Given the description of an element on the screen output the (x, y) to click on. 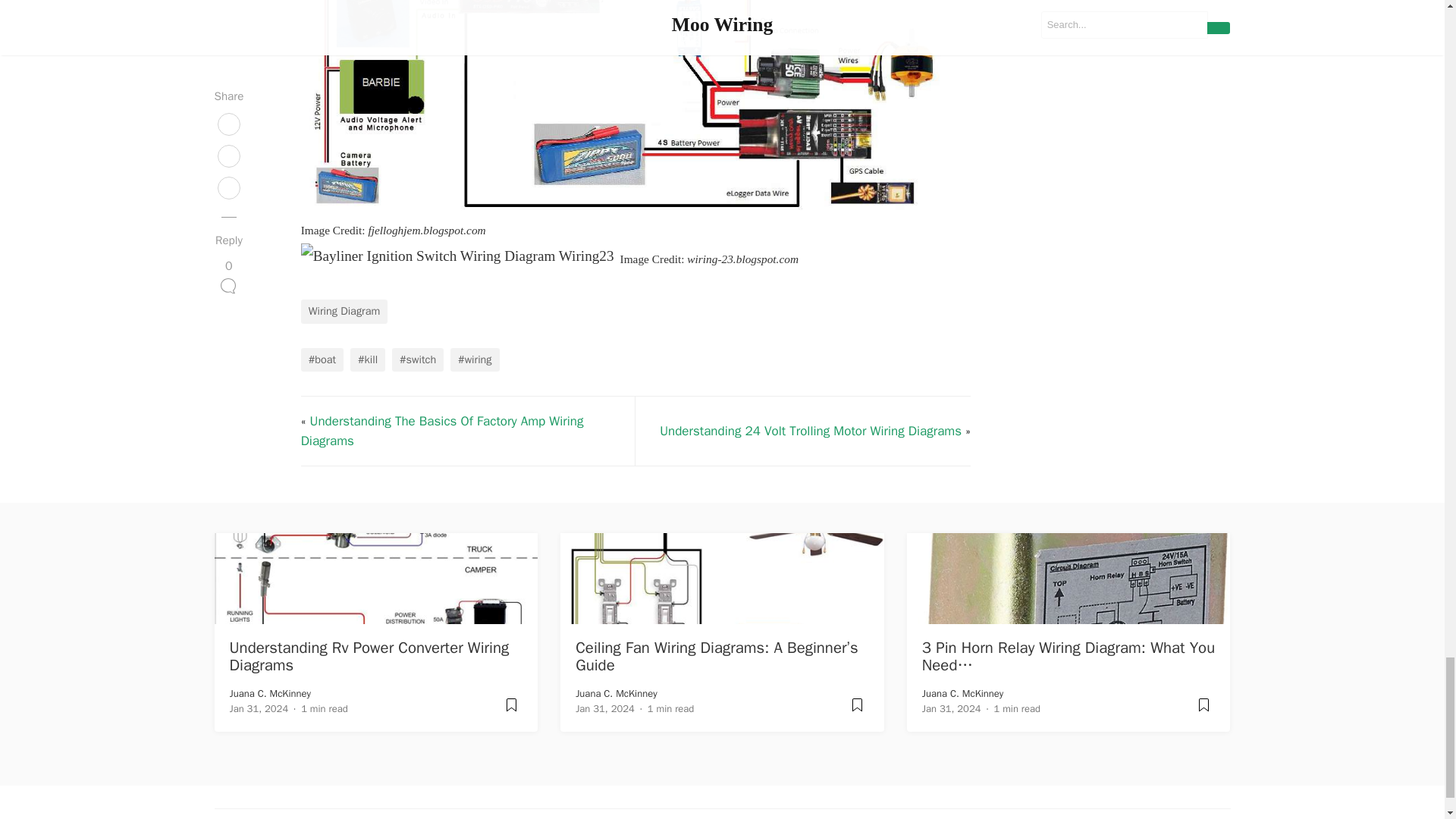
Understanding Rv Power Converter Wiring Diagrams (369, 656)
Juana C. McKinney (270, 693)
Understanding 24 Volt Trolling Motor Wiring Diagrams (809, 430)
Understanding The Basics Of Factory Amp Wiring Diagrams (442, 430)
Juana C. McKinney (616, 693)
Juana C. McKinney (962, 693)
Wiring Diagram (344, 311)
